Given the description of an element on the screen output the (x, y) to click on. 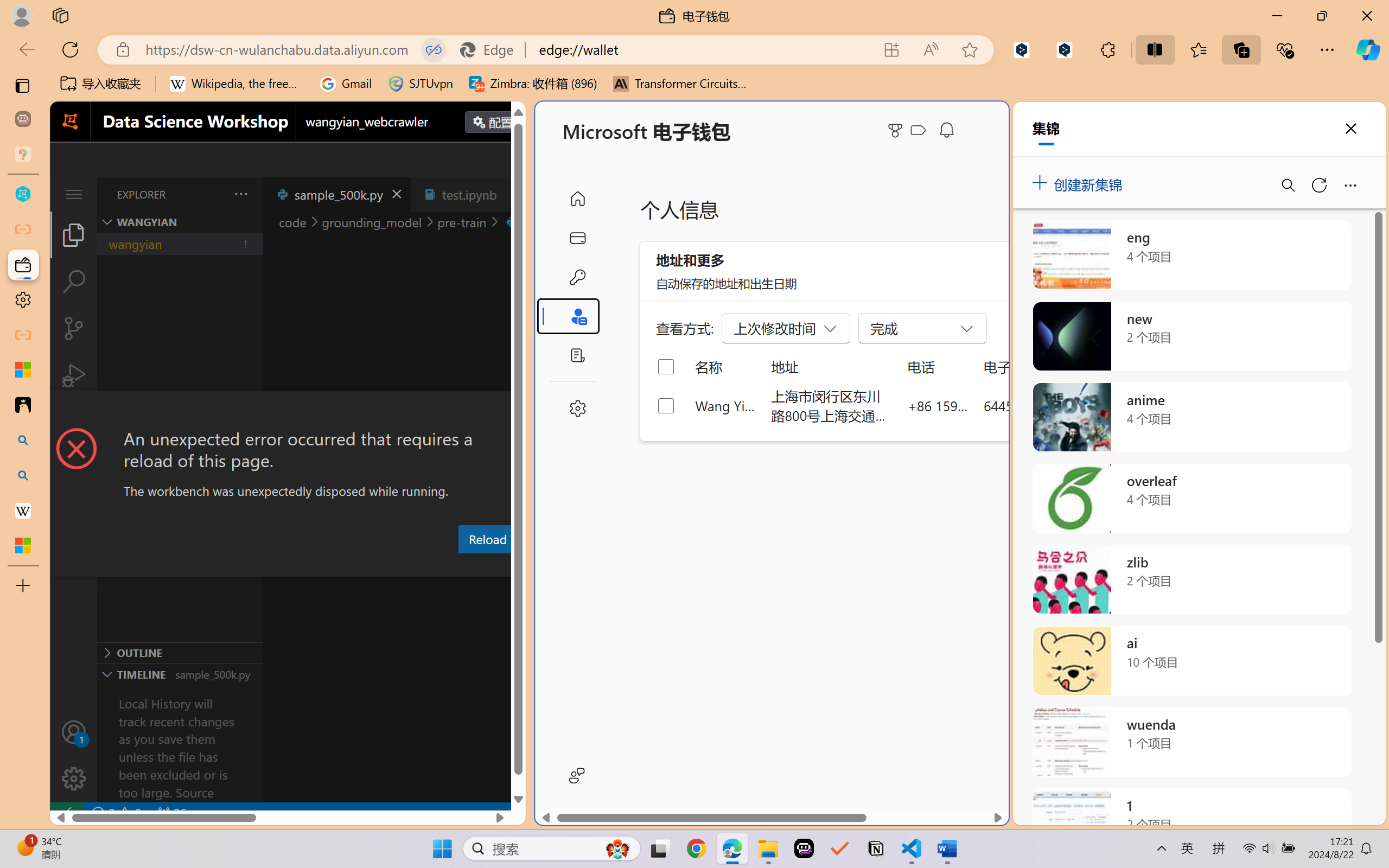
Source Control (Ctrl+Shift+G) (73, 328)
Terminal (Ctrl+`) (553, 565)
Close (Ctrl+F4) (512, 194)
Views and More Actions... (240, 193)
